Given the description of an element on the screen output the (x, y) to click on. 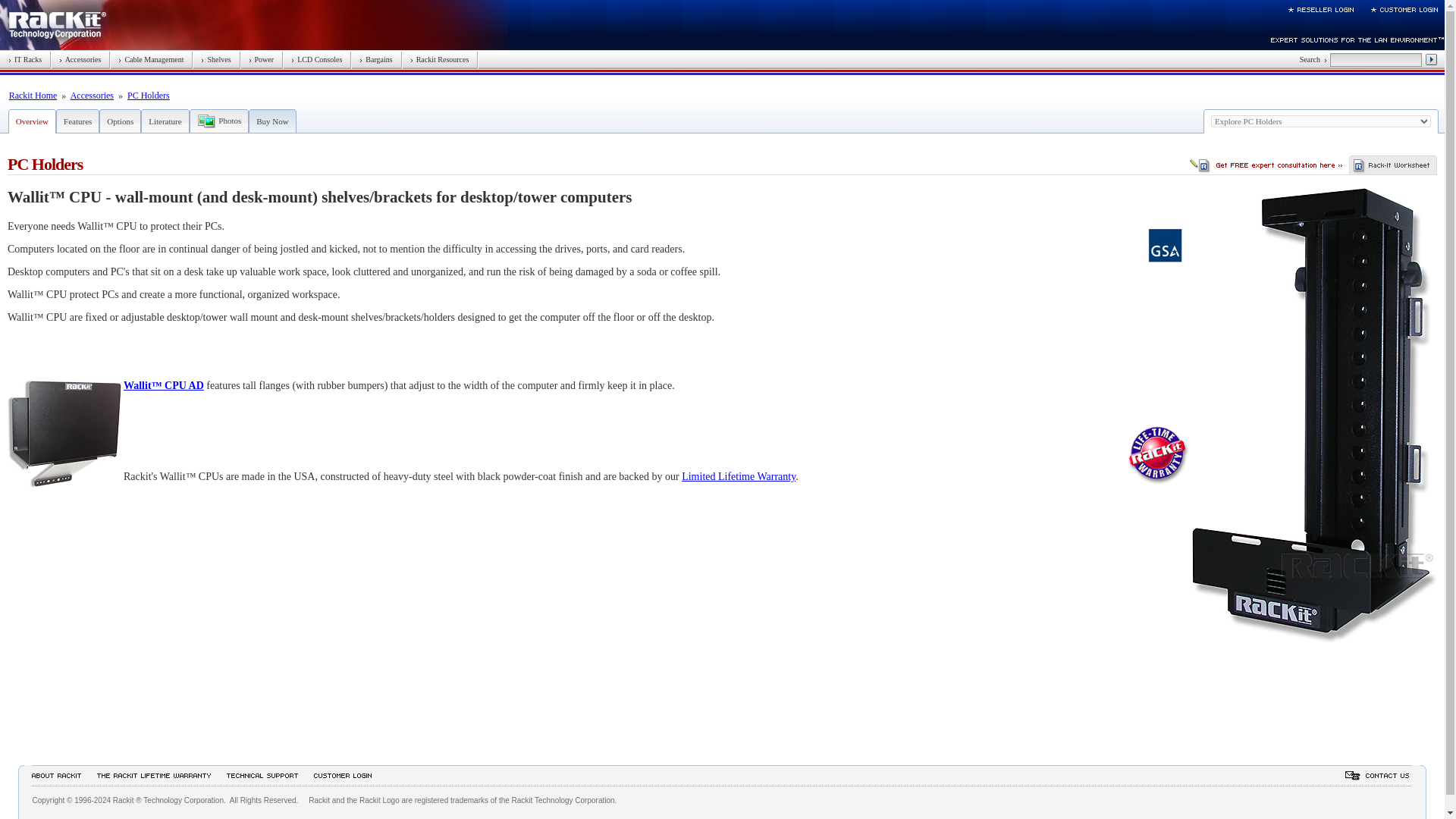
PC Holders (149, 95)
Features (77, 121)
  Power (261, 59)
Wallit CPU AD (63, 433)
  Shelves (215, 59)
Limited Lifetime Warranty (737, 476)
Government Sales (1164, 245)
Photos (229, 120)
  Cable Management (150, 59)
